Given the description of an element on the screen output the (x, y) to click on. 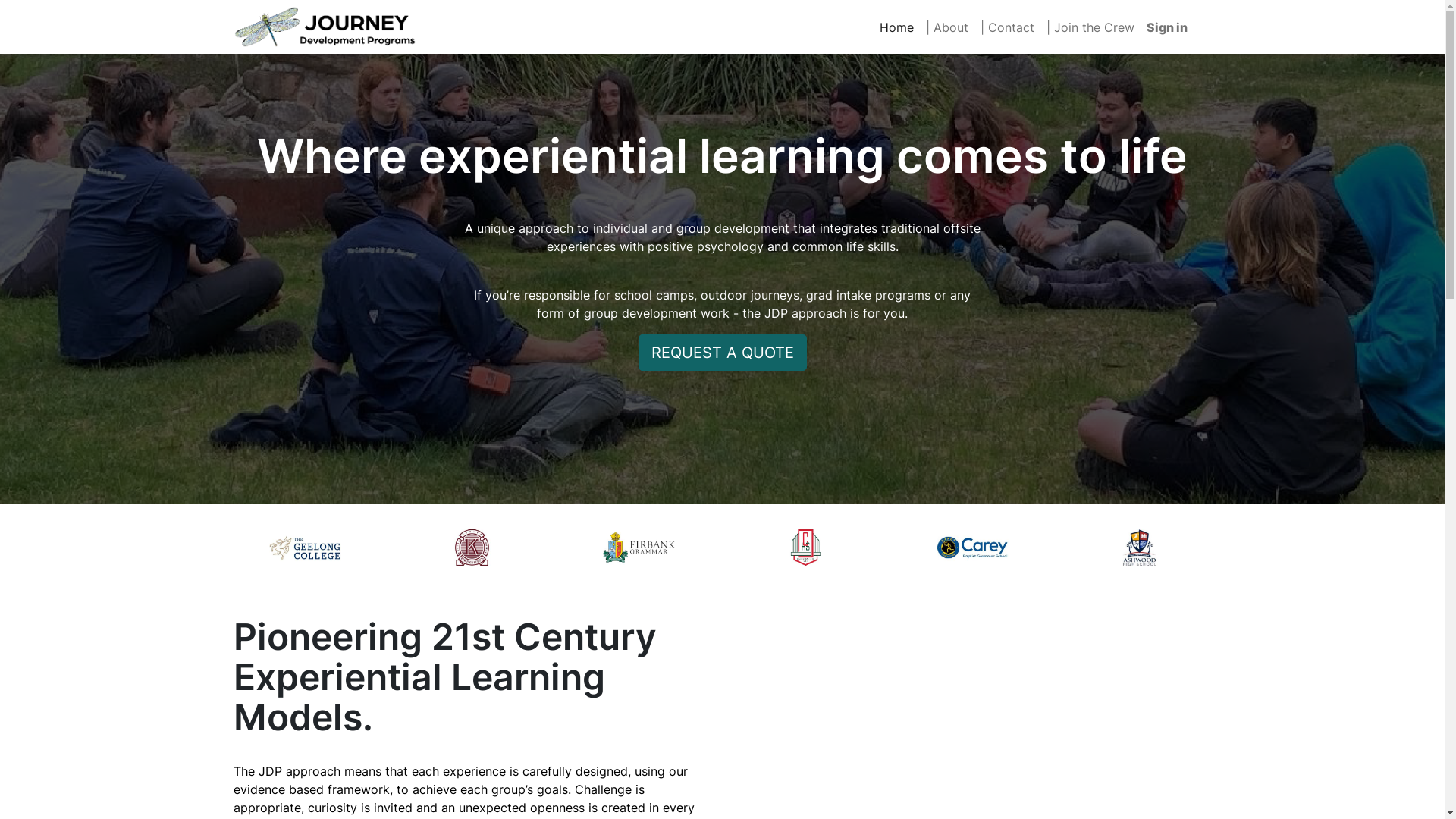
Journey Development Programs Element type: hover (324, 26)
Sign in Element type: text (1166, 27)
Home Element type: text (896, 27)
| Contact Element type: text (1006, 27)
REQUEST A QUOTE Element type: text (722, 352)
| Join the Crew Element type: text (1090, 27)
| About Element type: text (946, 27)
